Given the description of an element on the screen output the (x, y) to click on. 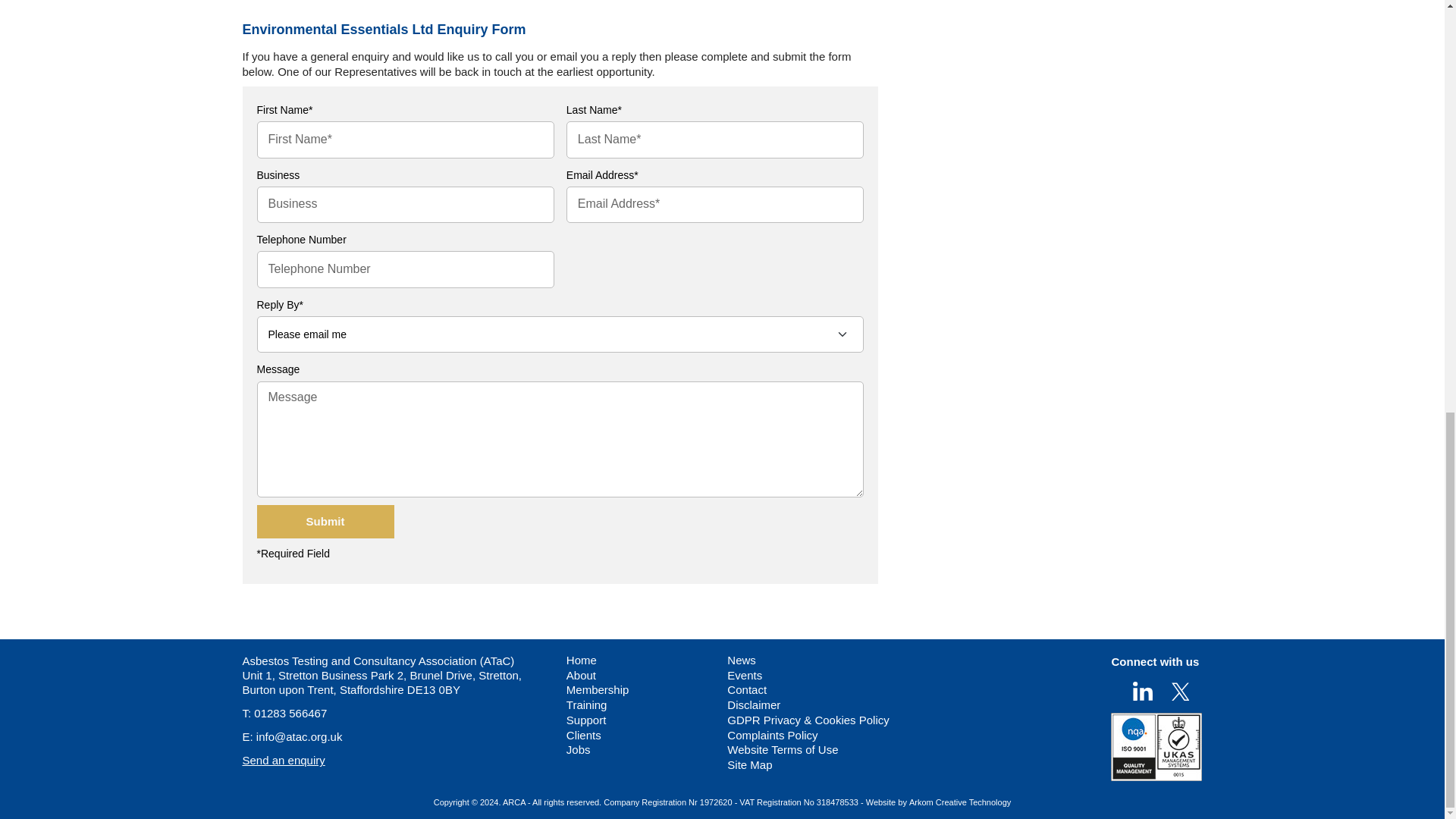
LinkedIn (1142, 690)
Submit (324, 521)
Email us at:01283 566467 (289, 712)
X (1179, 690)
Site created by Arkom Creative Technology (959, 802)
Contact Us (283, 759)
